Given the description of an element on the screen output the (x, y) to click on. 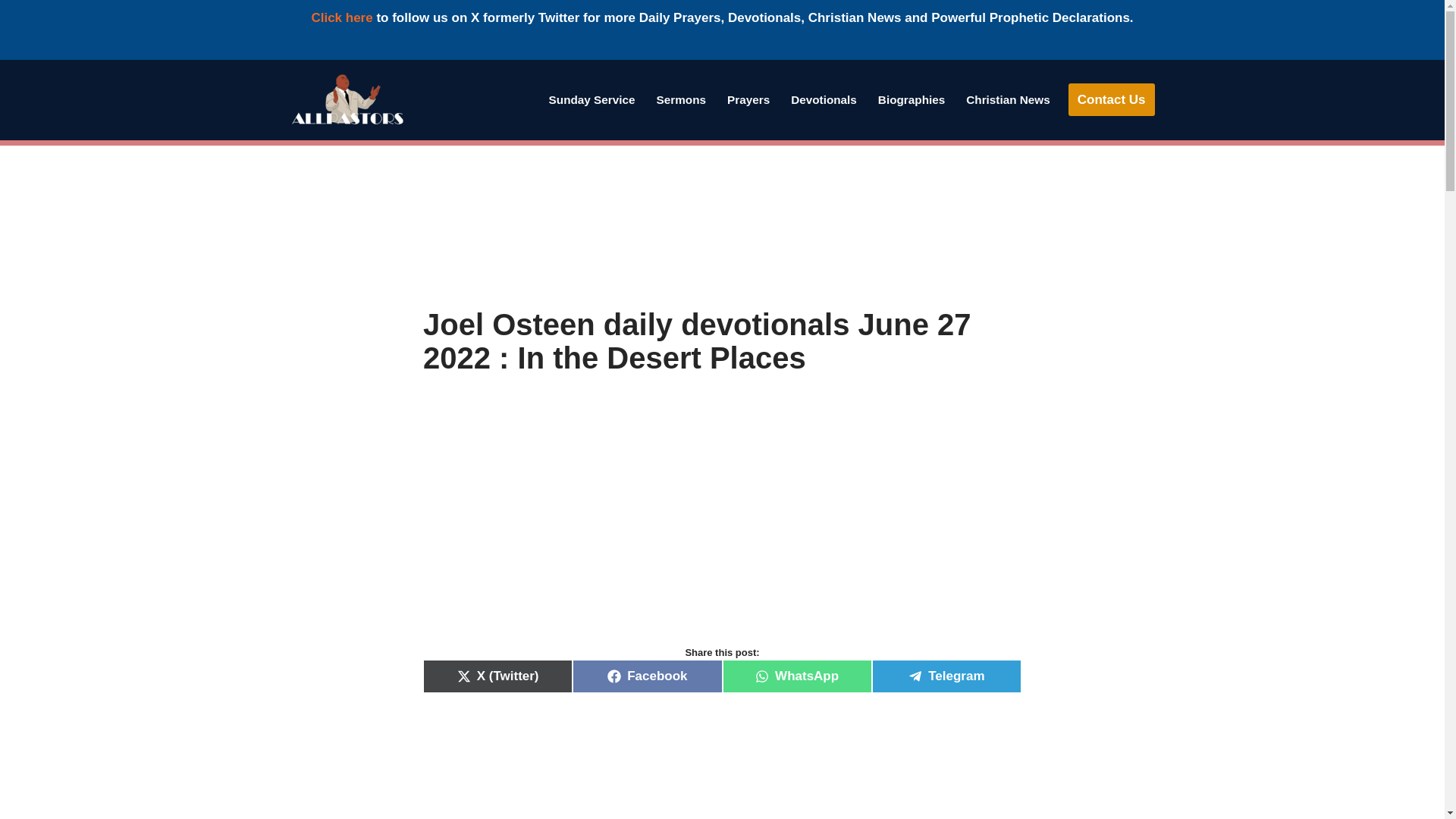
Sermons (681, 99)
Telegram (947, 676)
Contact Us (1111, 99)
Prayers (748, 99)
Sunday Service (591, 99)
Advertisement (722, 526)
Skip to content (11, 91)
Devotionals (823, 99)
Christian News (1007, 99)
Advertisement (722, 226)
